Given the description of an element on the screen output the (x, y) to click on. 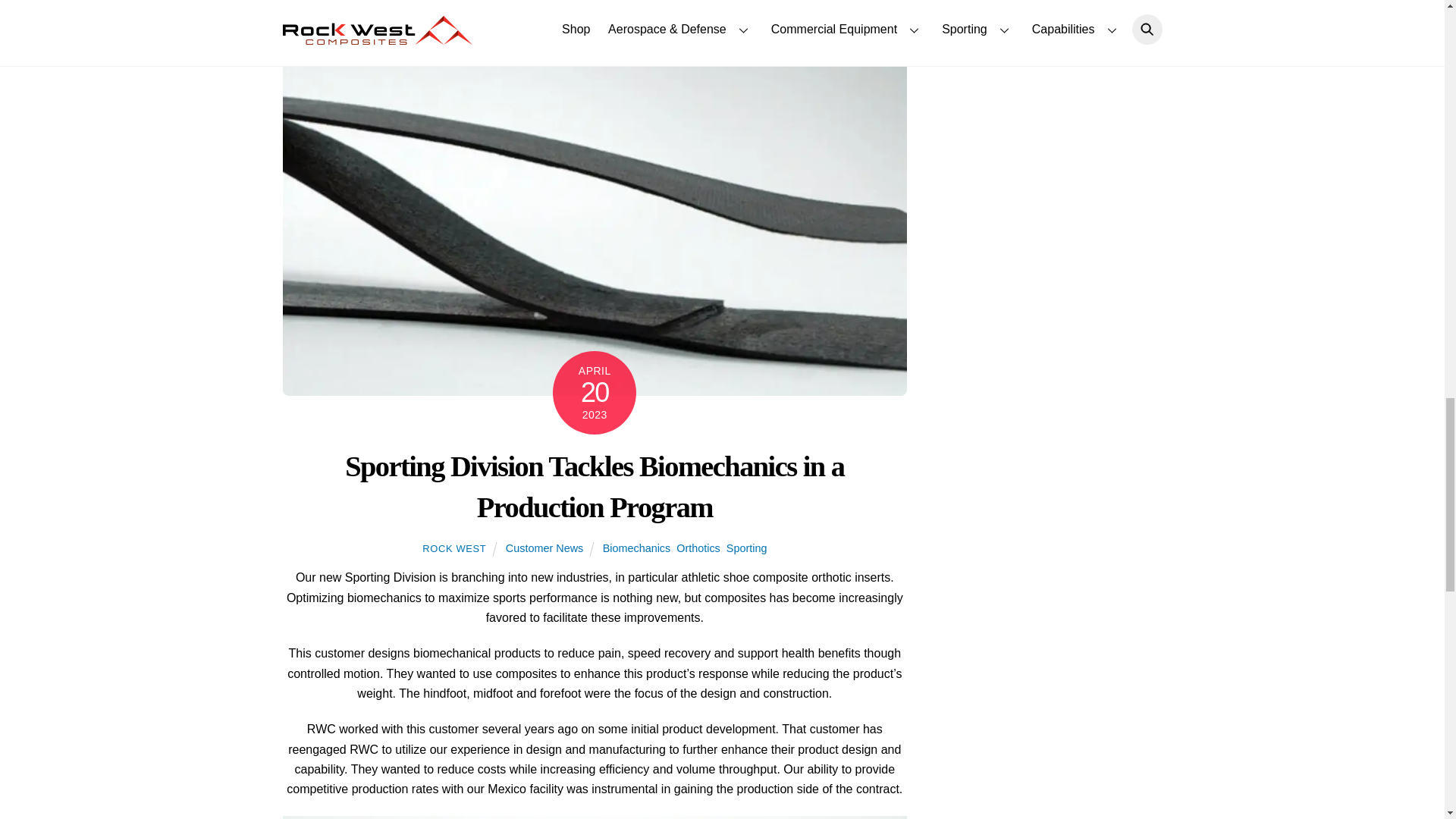
Customer News (544, 548)
ROCK WEST (454, 548)
